Given the description of an element on the screen output the (x, y) to click on. 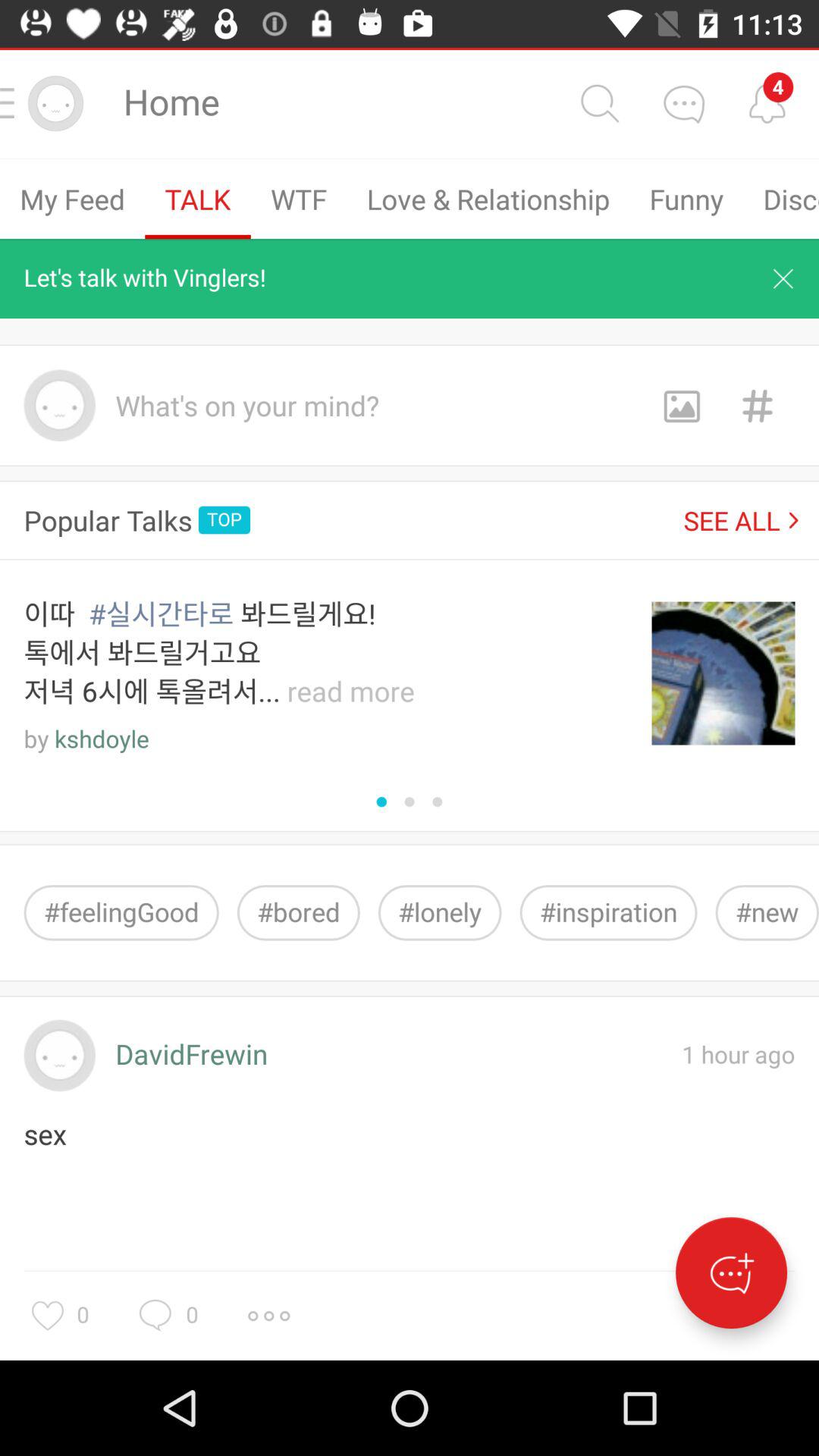
search button (599, 103)
